Given the description of an element on the screen output the (x, y) to click on. 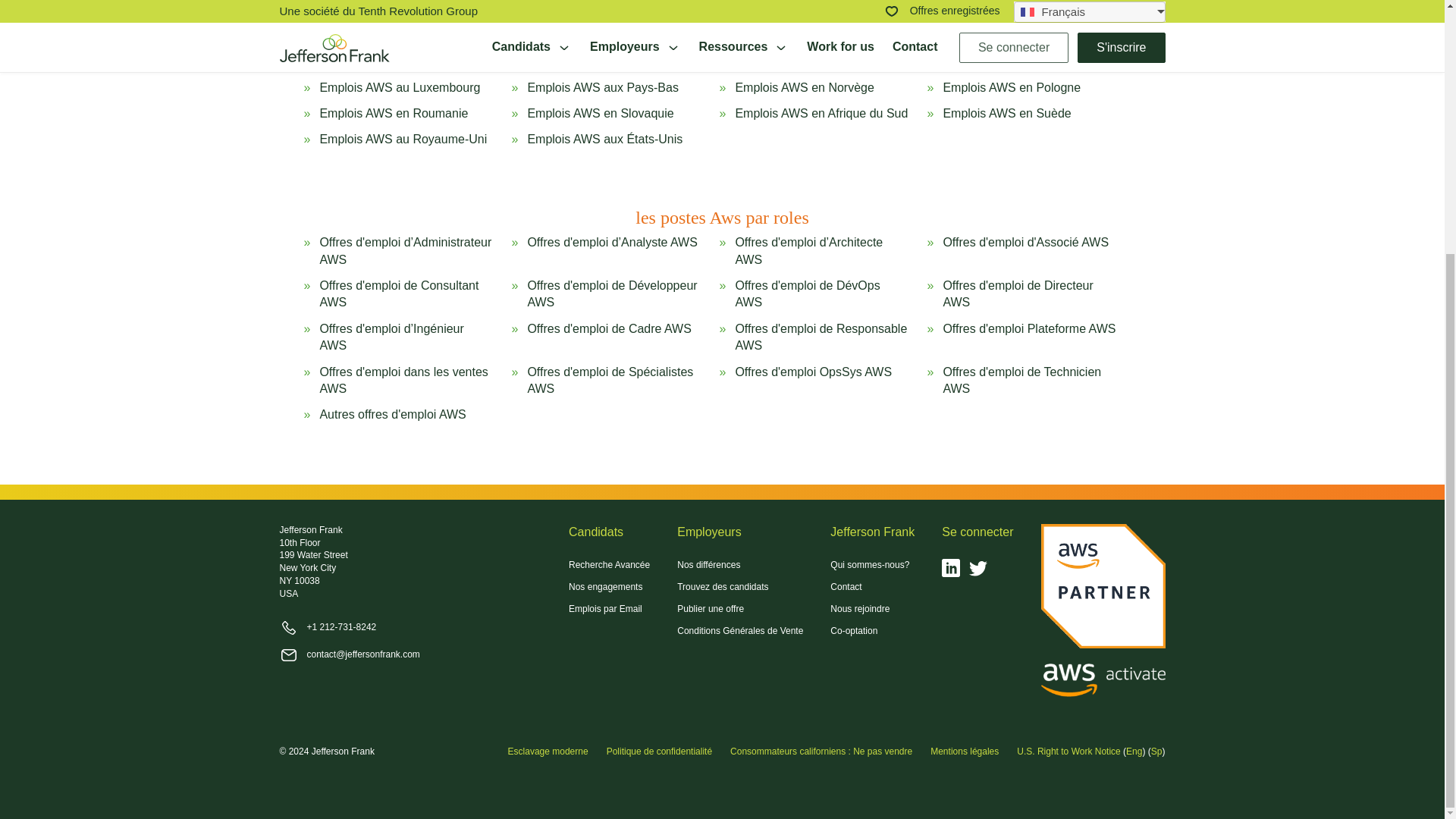
Emplois AWS au Danemark (602, 26)
Emplois AWS en Hongrie (594, 61)
Emplois AWS en Irlande (799, 61)
Emplois AWS en Italie (1001, 61)
Emplois AWS au Luxembourg (399, 87)
Emplois AWS en Allemagne (1017, 26)
Emplois AWS en Suisse (383, 61)
Emplois AWS en Finlande (805, 26)
